Given the description of an element on the screen output the (x, y) to click on. 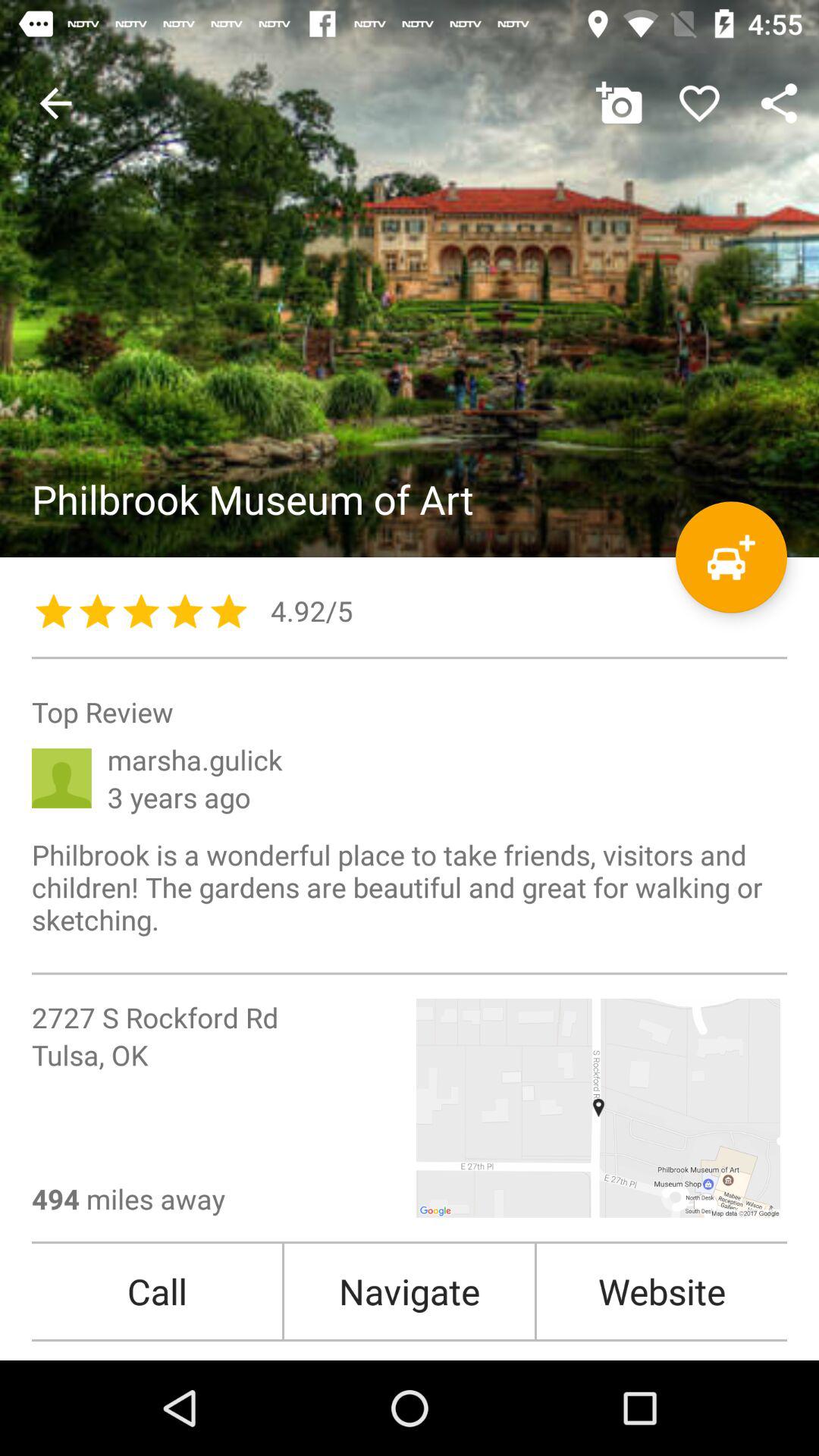
you can use roadtrippers for free to find other places (731, 557)
